Given the description of an element on the screen output the (x, y) to click on. 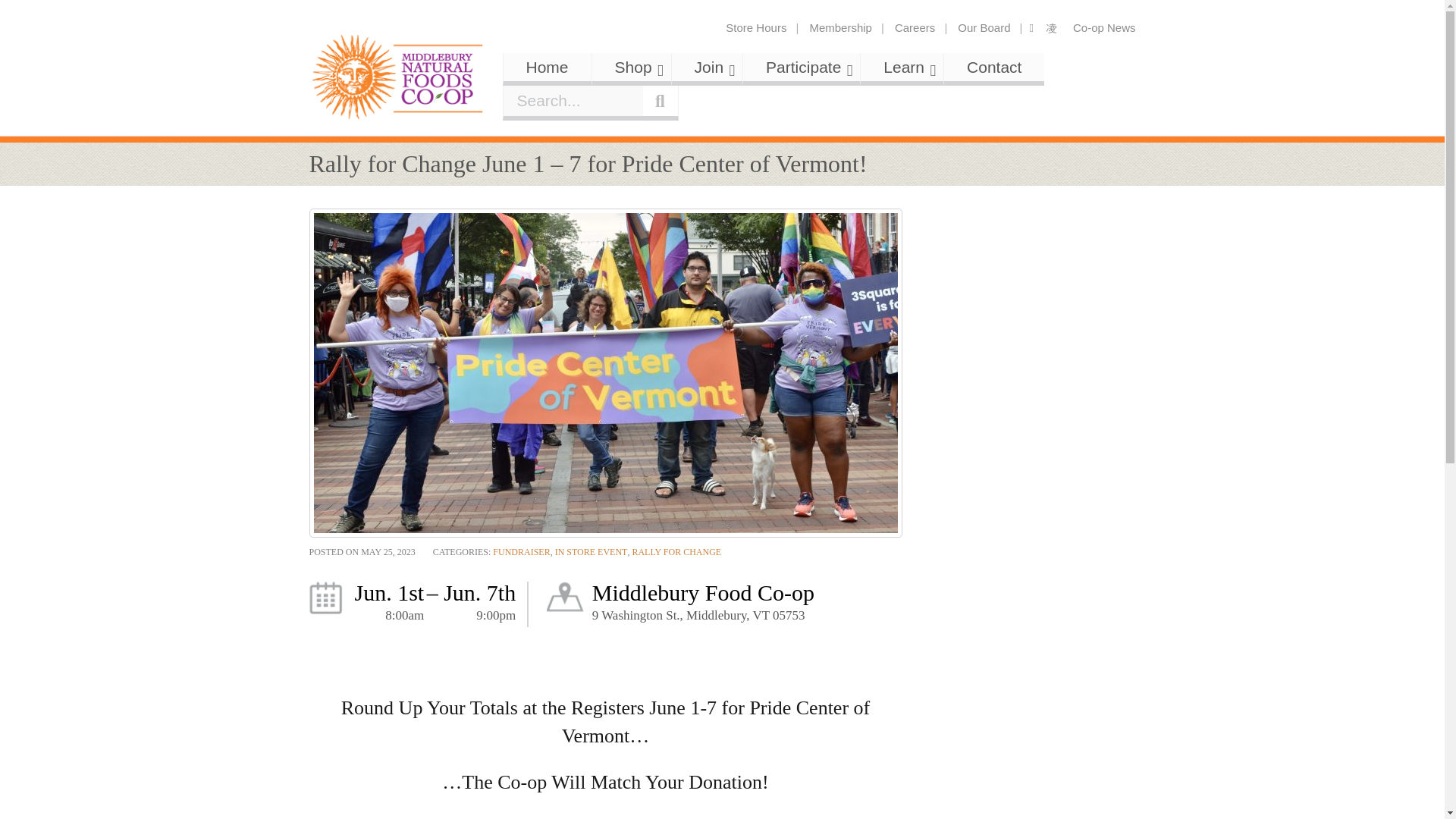
Shop (631, 67)
Home (547, 67)
Careers (914, 27)
Middlebury Food Co-op (809, 86)
Membership (397, 76)
Store Hours (840, 27)
Our Board (755, 27)
Co-op News (984, 27)
